Given the description of an element on the screen output the (x, y) to click on. 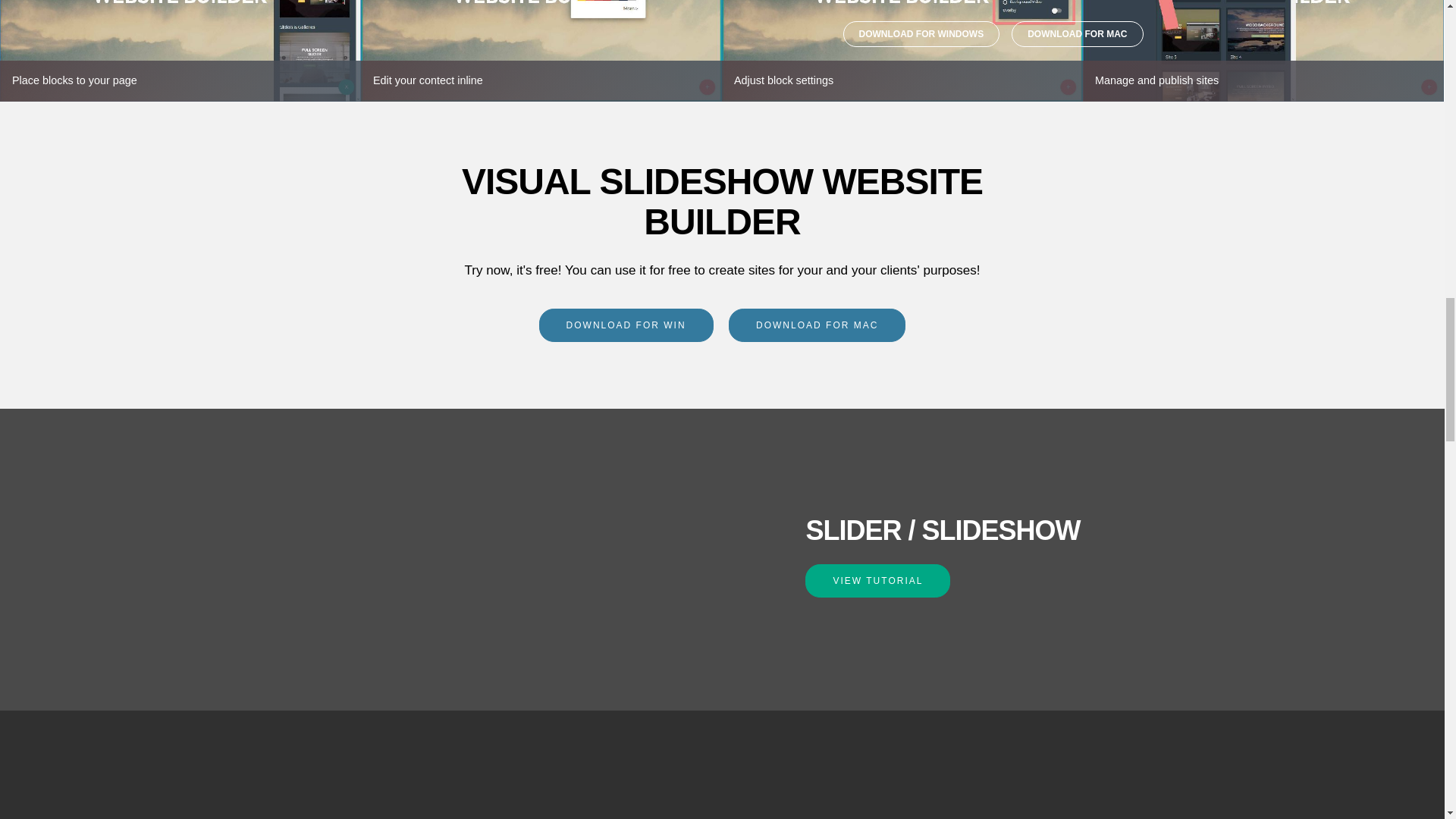
DOWNLOAD FOR MAC (817, 325)
VIEW TUTORIAL (877, 580)
DOWNLOAD FOR WIN (625, 325)
